Given the description of an element on the screen output the (x, y) to click on. 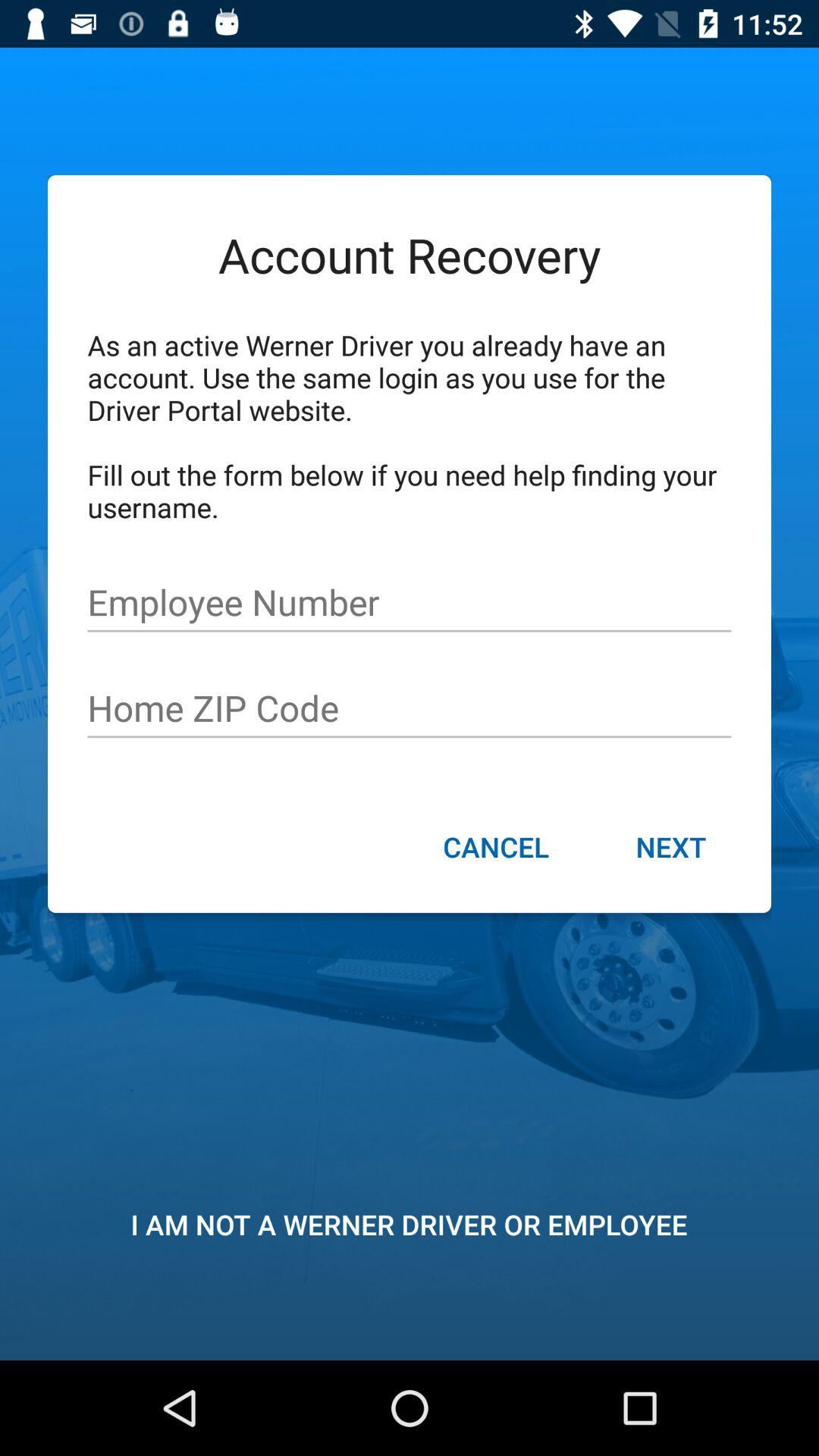
press the icon to the left of next item (495, 848)
